Given the description of an element on the screen output the (x, y) to click on. 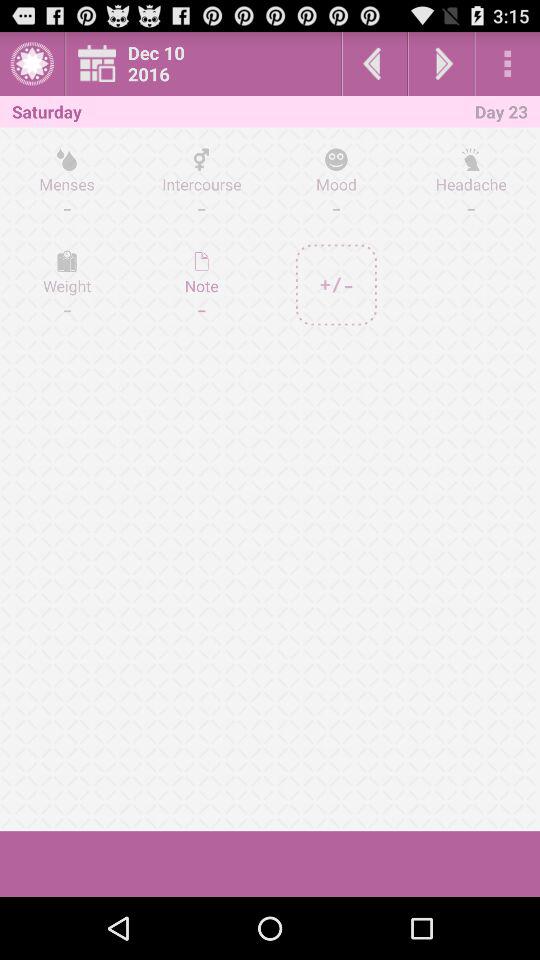
go next (441, 63)
